Given the description of an element on the screen output the (x, y) to click on. 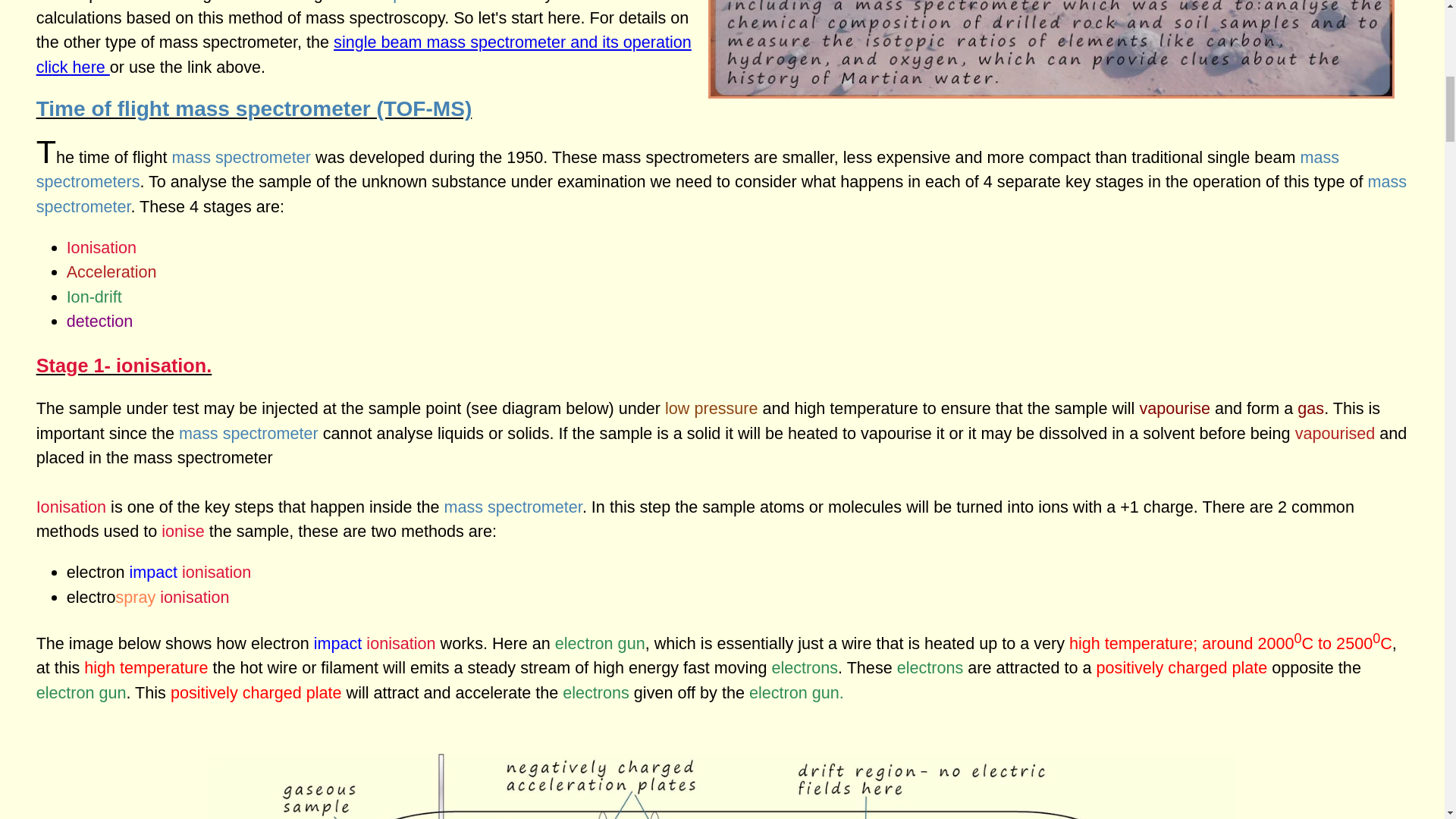
single beam mass spectrometer and its operation click here (363, 54)
